Given the description of an element on the screen output the (x, y) to click on. 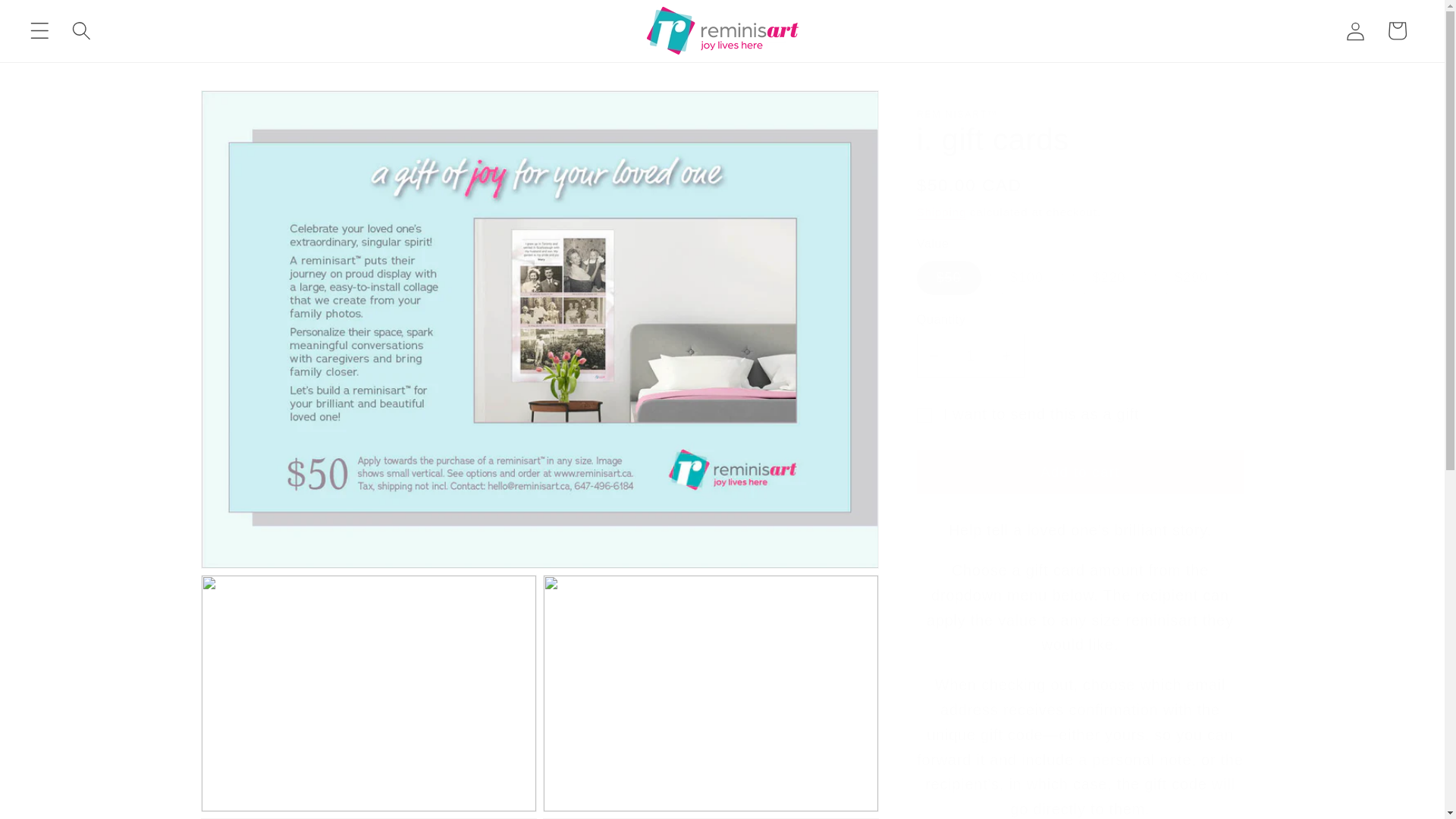
Shipping (941, 211)
Log in (1355, 30)
Add to cart (1080, 472)
on (924, 415)
Skip to content (57, 21)
Open media 2 in modal (368, 693)
Open media 3 in modal (711, 693)
Cart (1396, 30)
